Given the description of an element on the screen output the (x, y) to click on. 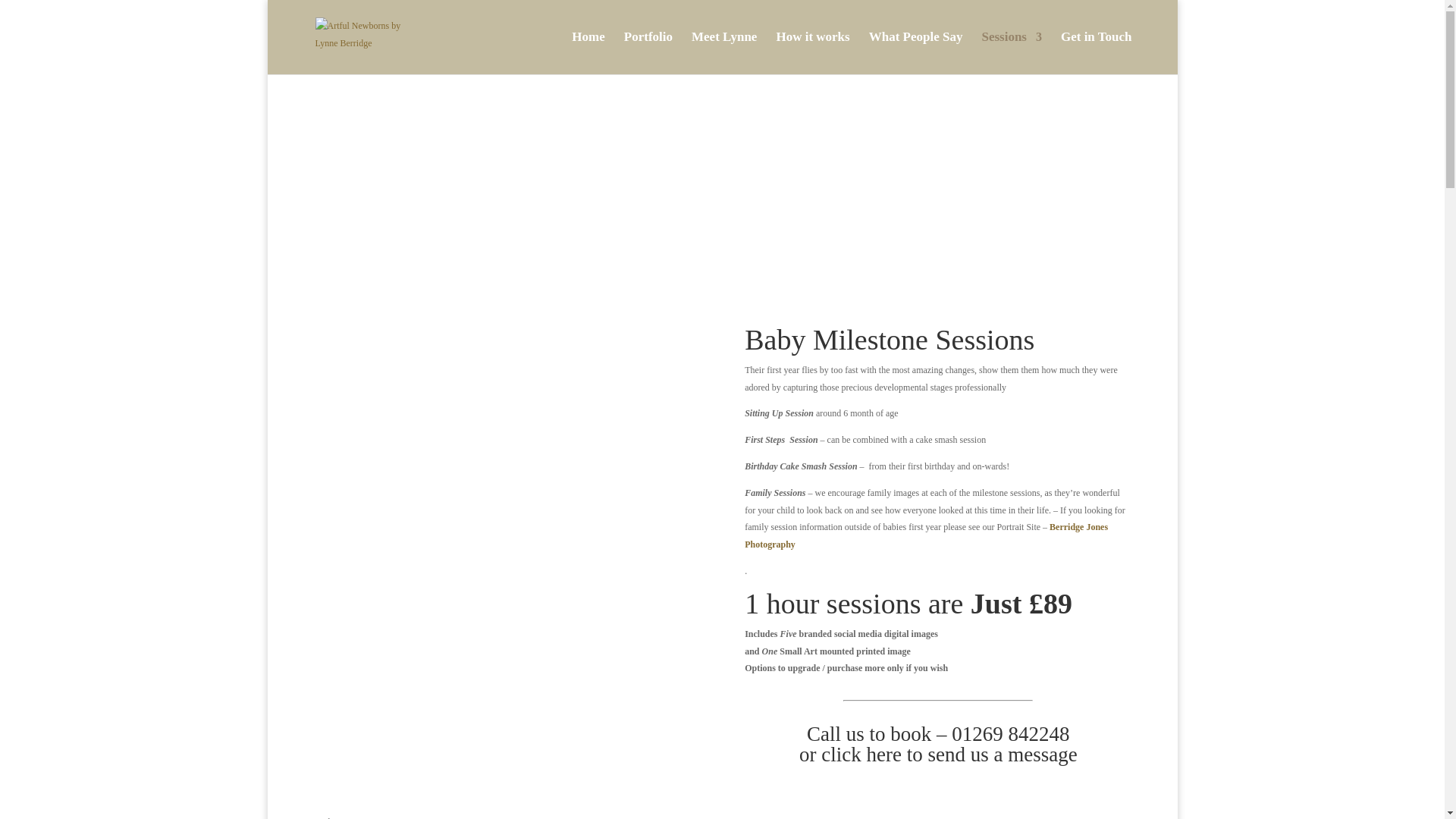
What People Say (915, 52)
Meet Lynne (724, 52)
How it works (812, 52)
Berridge Jones Photography (926, 535)
Sessions (1011, 52)
Get in Touch (1096, 52)
Portfolio (648, 52)
click here to send us a message (949, 753)
